Given the description of an element on the screen output the (x, y) to click on. 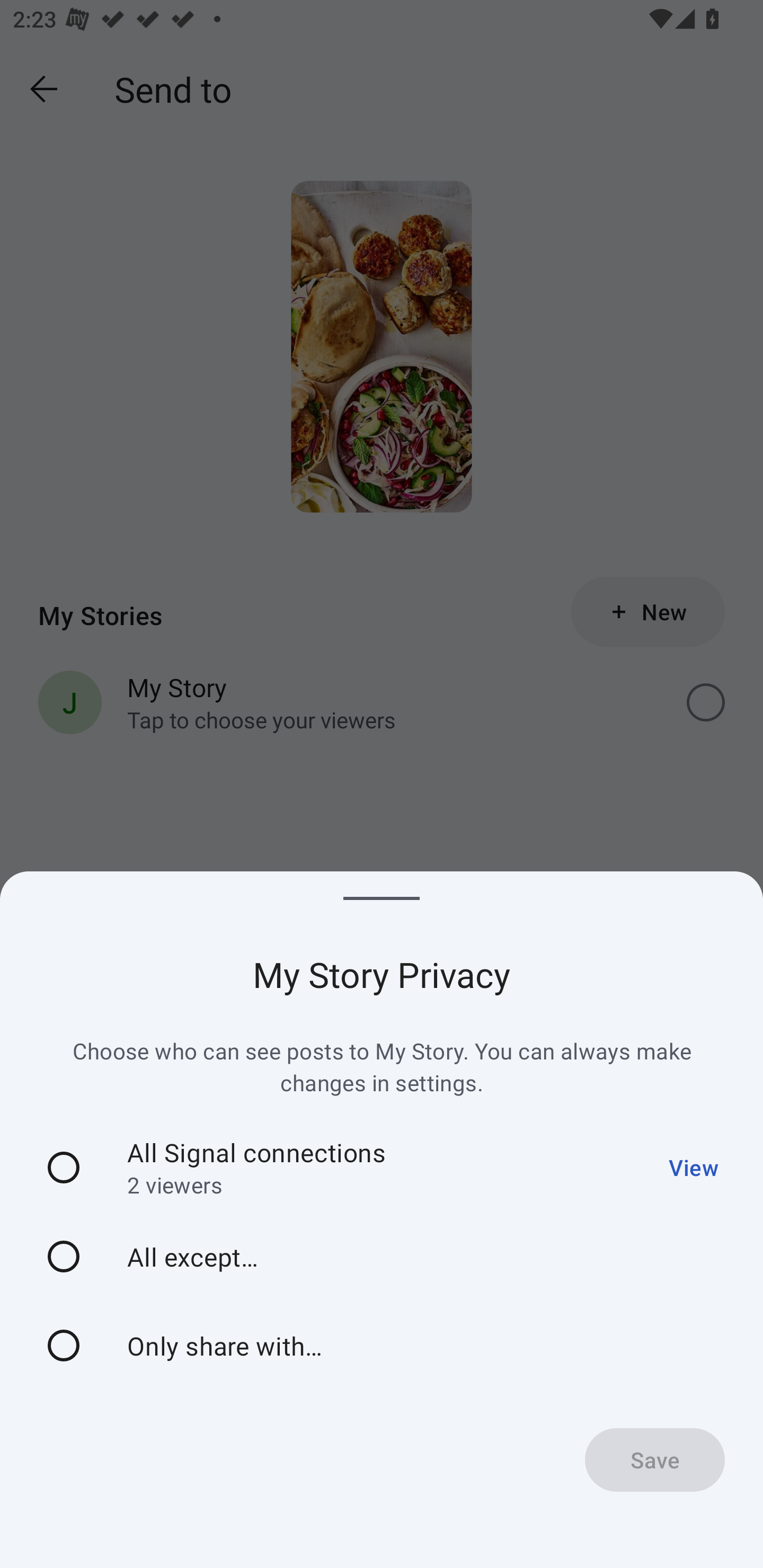
All Signal connections 2 viewers View (381, 1167)
